Given the description of an element on the screen output the (x, y) to click on. 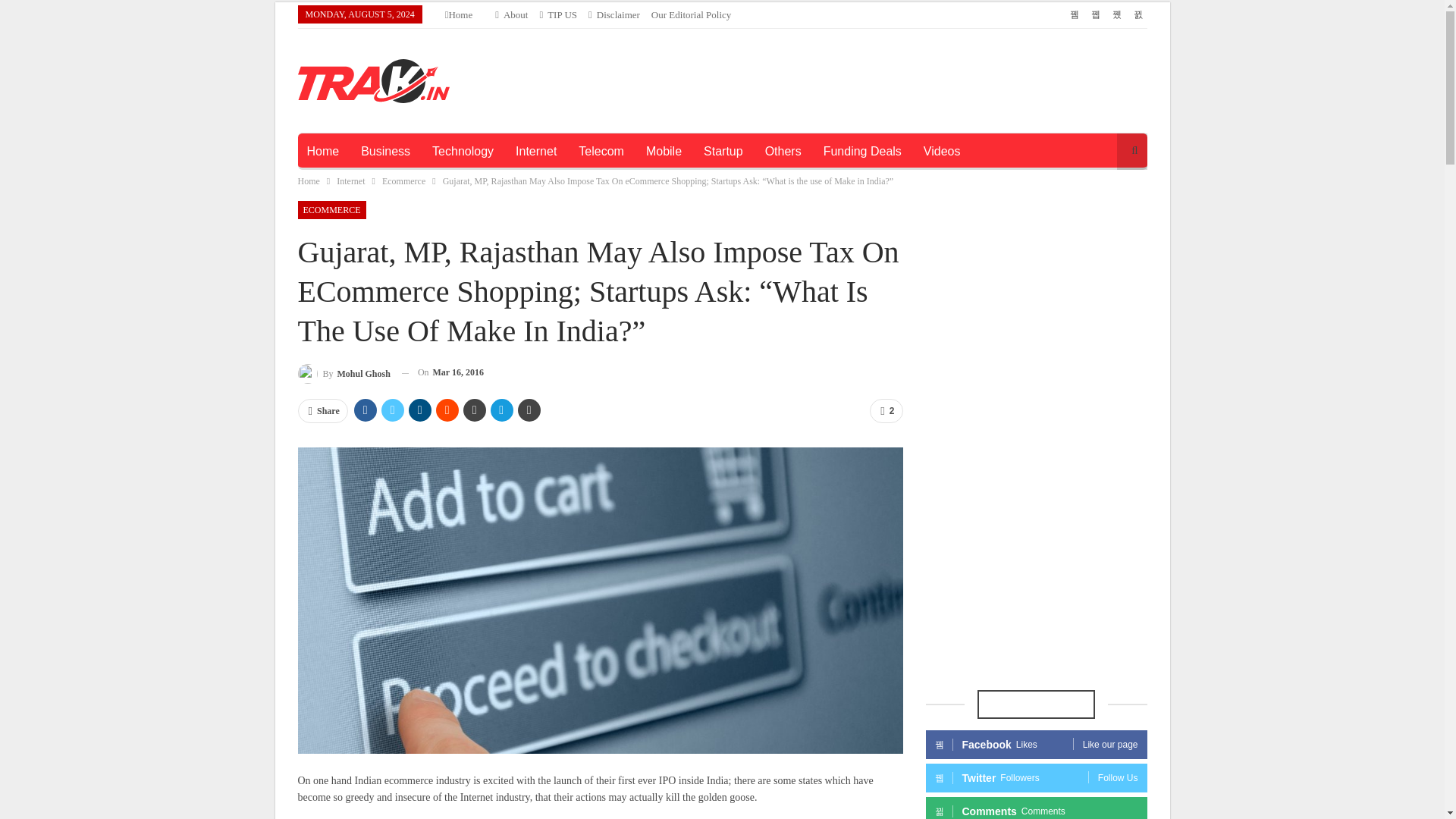
TIP US (557, 14)
Startup (723, 151)
Videos (941, 151)
Internet (350, 180)
Technology (462, 151)
ECOMMERCE (331, 209)
Home (307, 180)
Our Editorial Policy (690, 14)
Disclaimer (614, 14)
Disclaimer (614, 14)
